Given the description of an element on the screen output the (x, y) to click on. 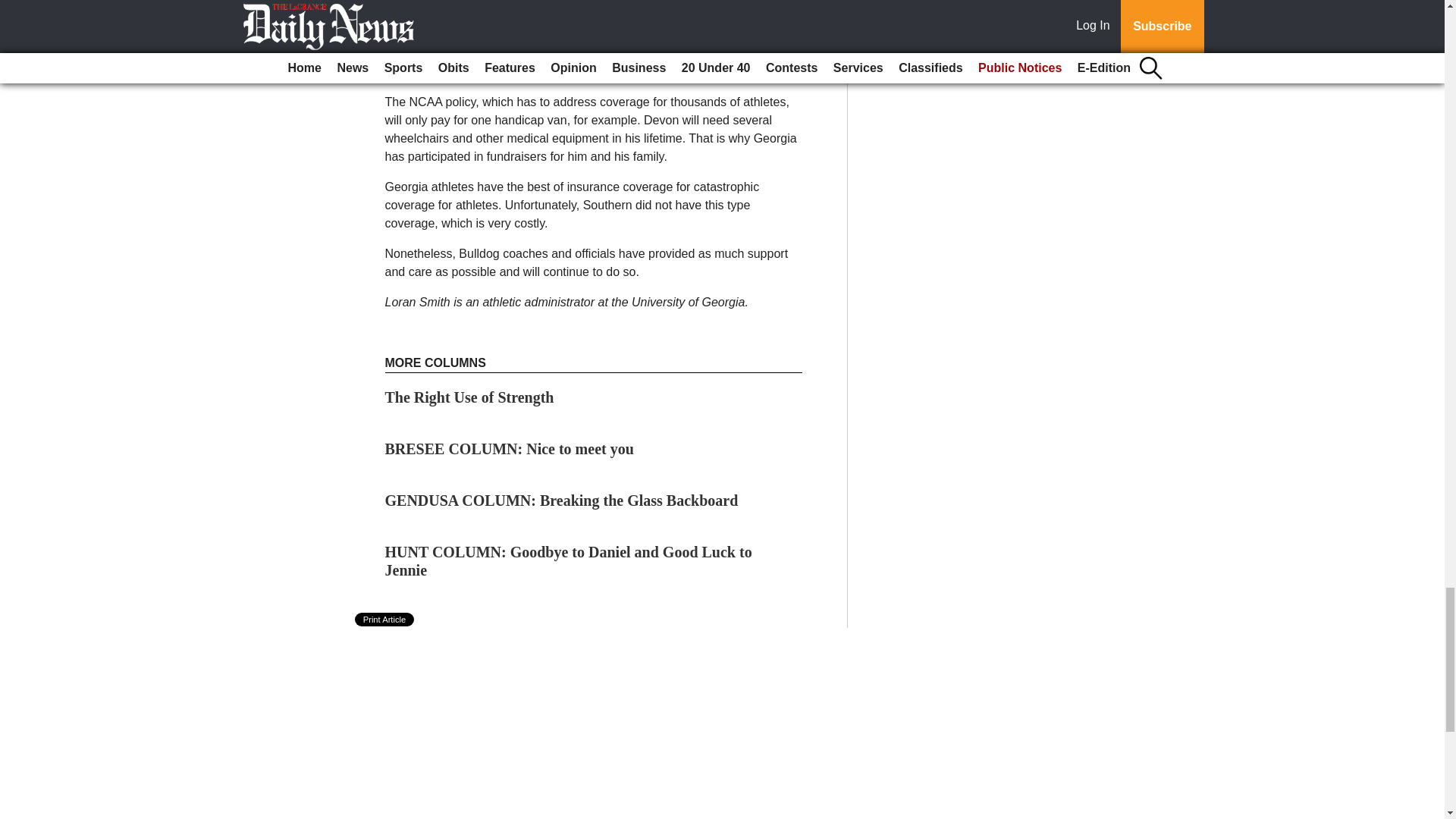
Print Article (384, 619)
The Right Use of Strength (469, 397)
HUNT COLUMN: Goodbye to Daniel and Good Luck to Jennie (568, 560)
HUNT COLUMN: Goodbye to Daniel and Good Luck to Jennie (568, 560)
BRESEE COLUMN: Nice to meet you (509, 448)
The Right Use of Strength (469, 397)
BRESEE COLUMN: Nice to meet you (509, 448)
GENDUSA COLUMN: Breaking the Glass Backboard (561, 500)
GENDUSA COLUMN: Breaking the Glass Backboard (561, 500)
